Given the description of an element on the screen output the (x, y) to click on. 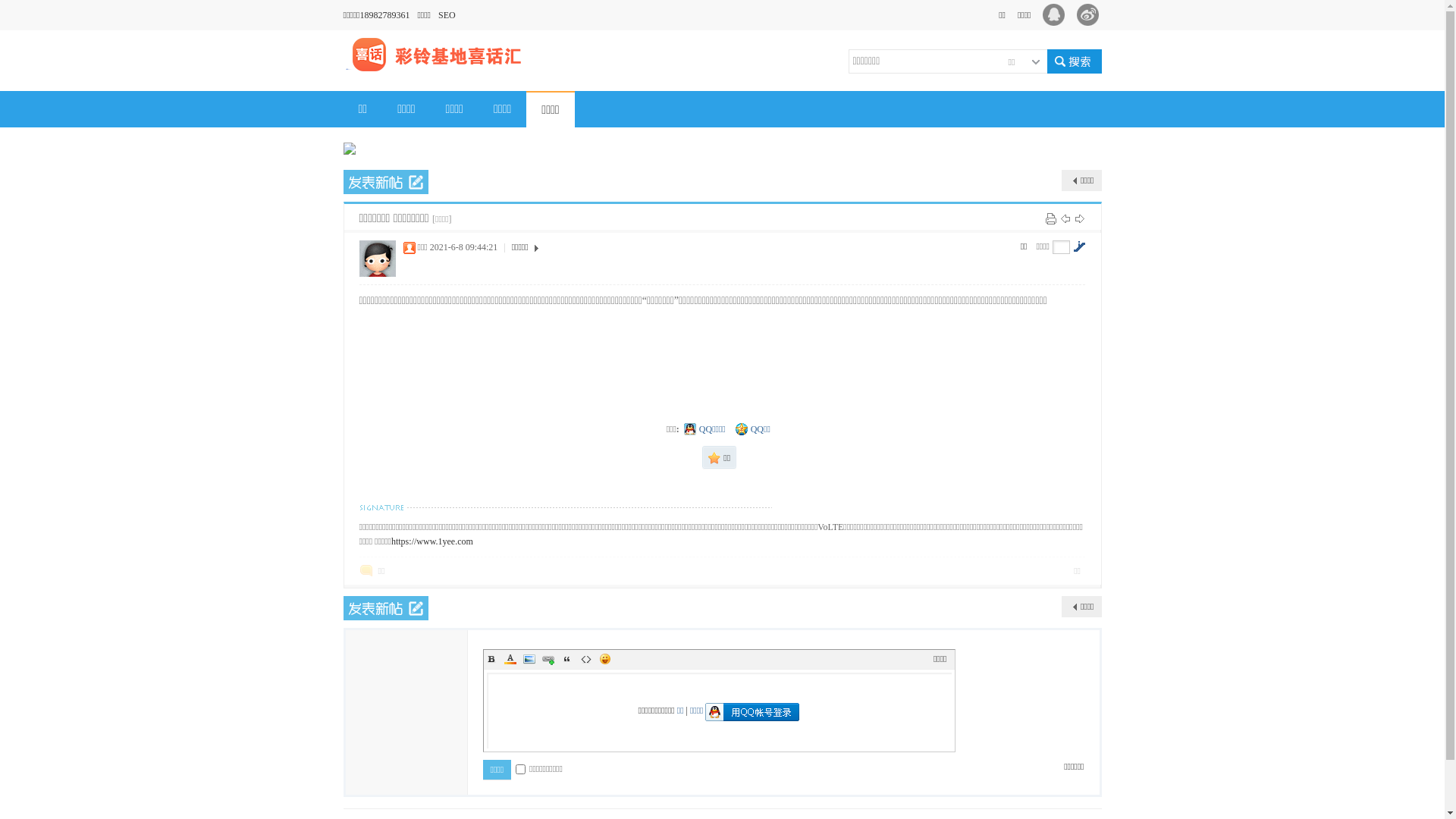
https://www.1yee.com Element type: text (432, 541)
Smilies Element type: text (604, 658)
B Element type: text (490, 658)
Link Element type: text (547, 658)
weibo Element type: text (1092, 15)
Color Element type: text (509, 658)
Quote Element type: text (566, 658)
Image Element type: text (528, 658)
SEO Element type: text (450, 15)
Code Element type: text (585, 658)
QQ Element type: text (1056, 15)
